Given the description of an element on the screen output the (x, y) to click on. 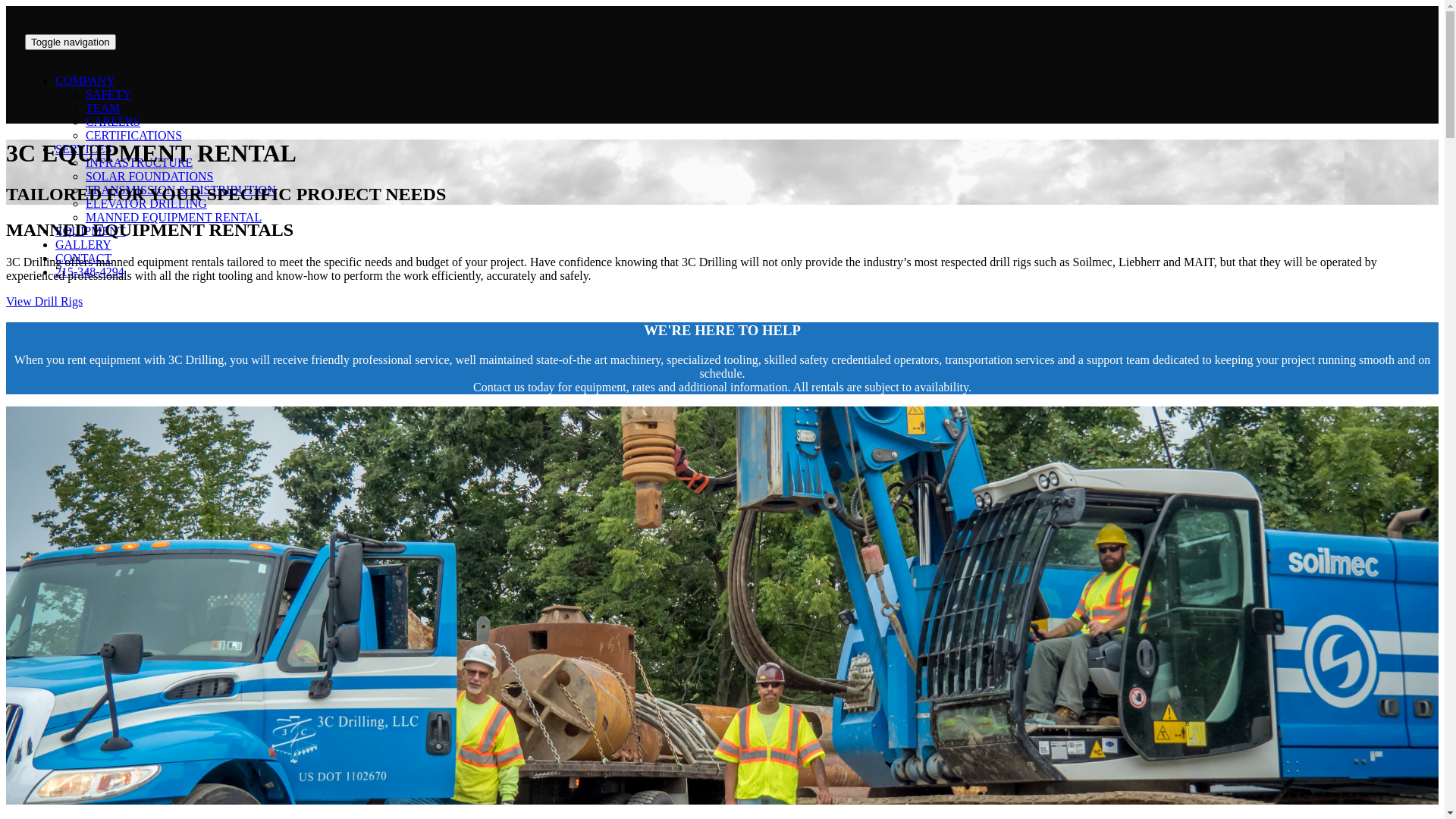
ELEVATOR DRILLING Element type: text (146, 203)
215-348-4294 Element type: text (89, 271)
GALLERY Element type: text (83, 244)
View Drill Rigs Element type: text (44, 300)
INFRASTRUCTURE Element type: text (138, 162)
TEAM Element type: text (102, 107)
SAFETY Element type: text (108, 93)
Toggle navigation Element type: text (70, 42)
CERTIFICATIONS Element type: text (133, 134)
TRANSMISSION & DISTRIBUTION Element type: text (180, 189)
EQUIPMENT Element type: text (90, 230)
MANNED EQUIPMENT RENTAL Element type: text (173, 216)
COMPANY Element type: text (85, 80)
SERVICES Element type: text (83, 148)
SOLAR FOUNDATIONS Element type: text (149, 175)
CAREERS Element type: text (112, 121)
CONTACT Element type: text (83, 257)
